Given the description of an element on the screen output the (x, y) to click on. 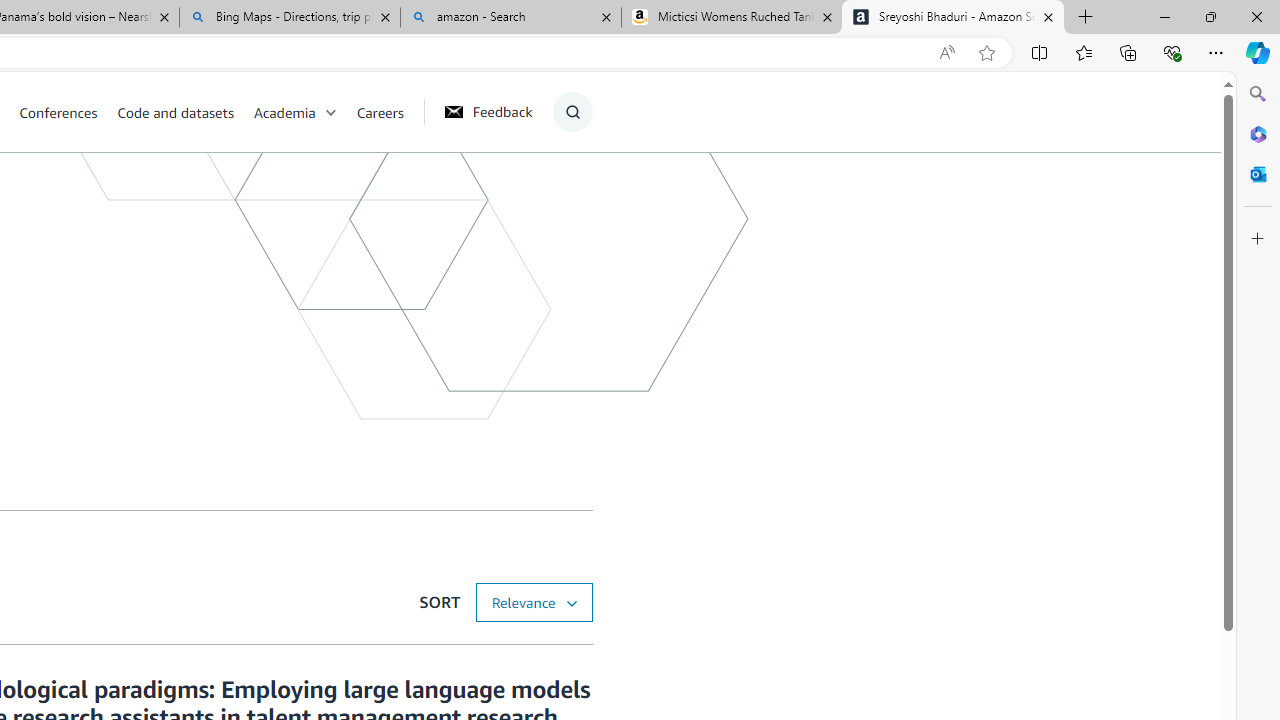
Careers (379, 111)
Open Sub Navigation (330, 111)
Submit Search (565, 191)
Code and datasets (184, 111)
Conferences (68, 111)
Careers (389, 111)
SORT (533, 602)
Show Search Form (571, 111)
